Given the description of an element on the screen output the (x, y) to click on. 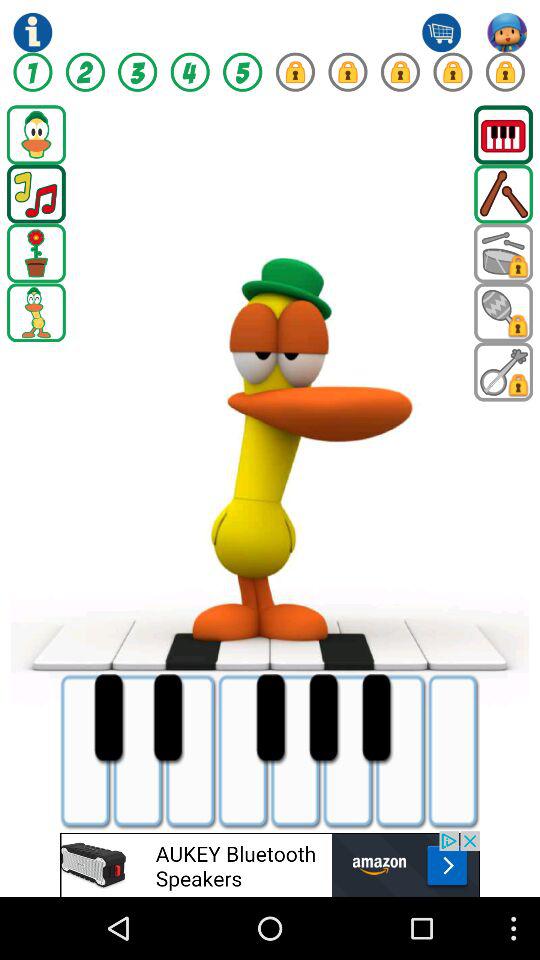
number selection (32, 71)
